Given the description of an element on the screen output the (x, y) to click on. 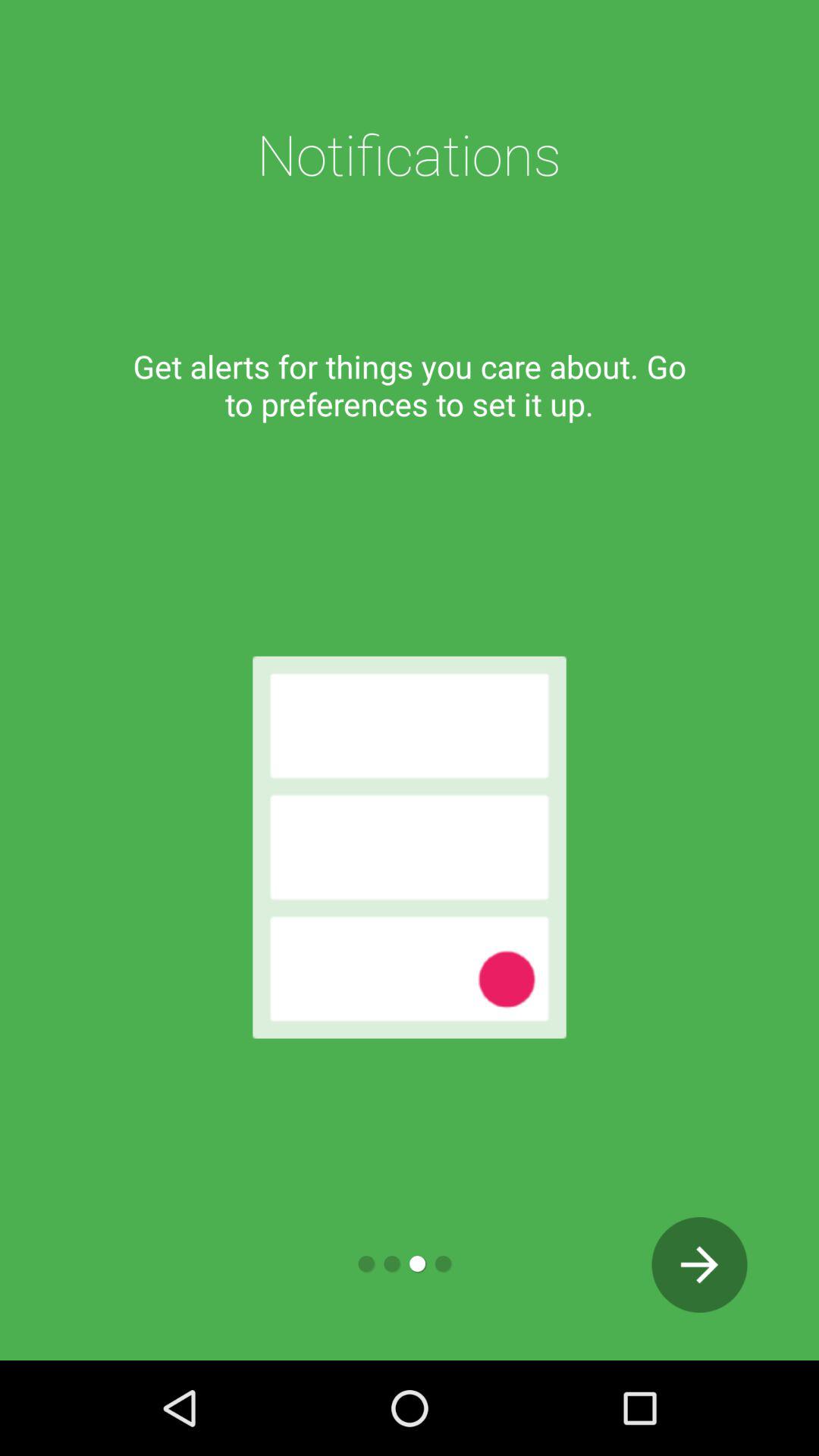
go forward button (699, 1264)
